Given the description of an element on the screen output the (x, y) to click on. 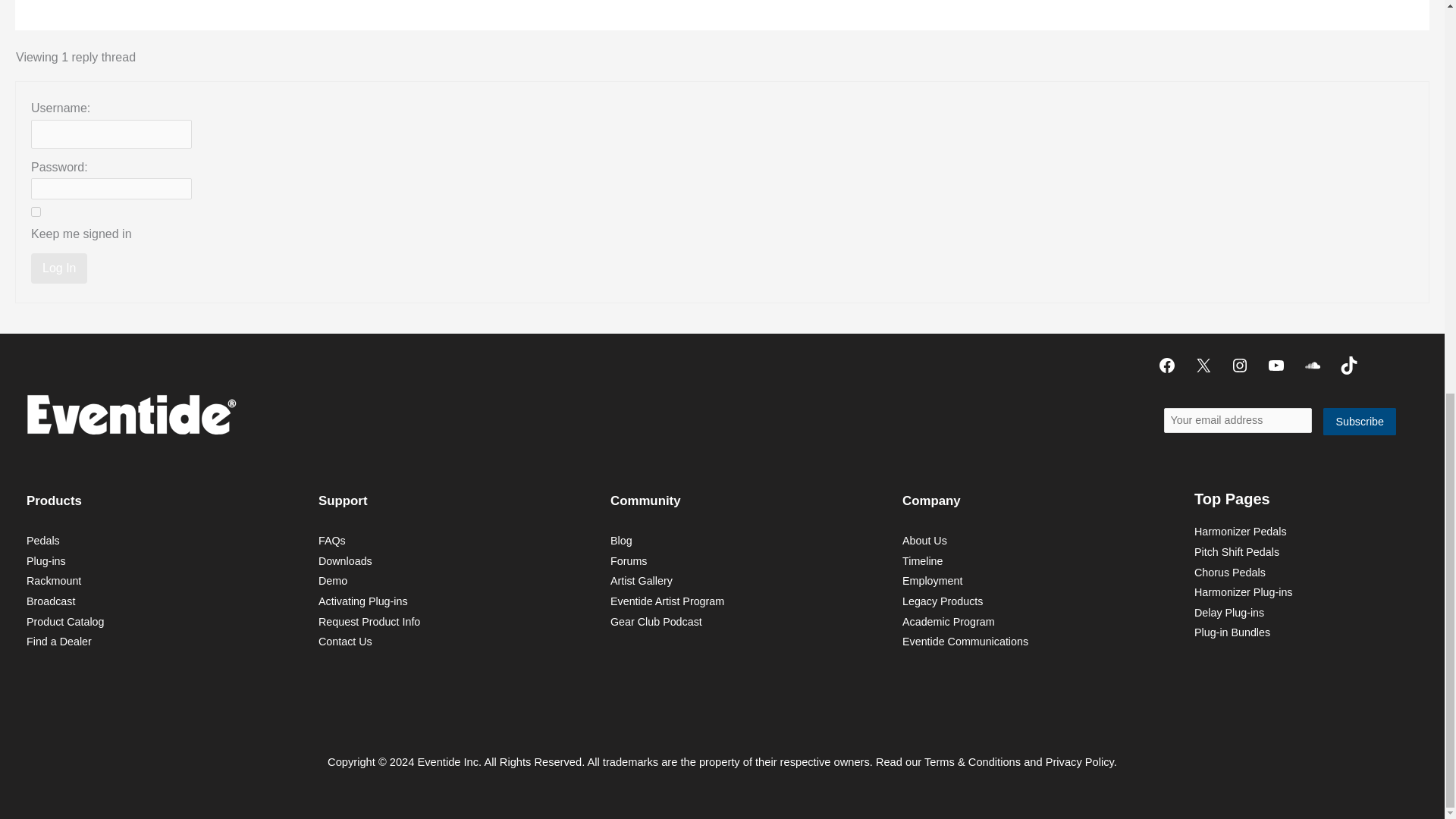
Subscribe (1359, 421)
forever (35, 212)
eventide-logo-white (130, 413)
